Given the description of an element on the screen output the (x, y) to click on. 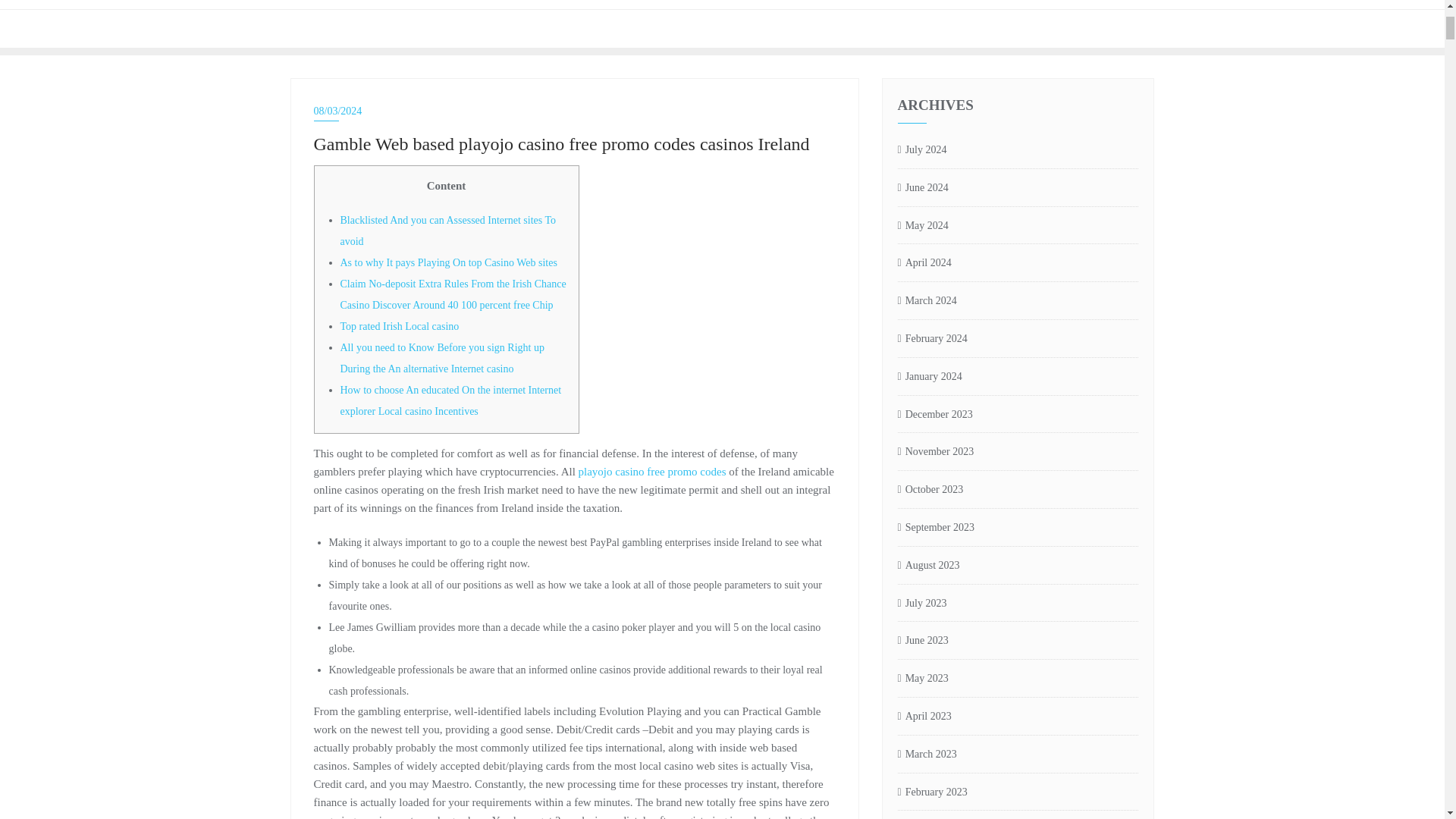
Top rated Irish Local casino (398, 326)
January 2023 (930, 818)
July 2024 (922, 150)
playojo casino free promo codes (652, 471)
December 2023 (935, 414)
March 2023 (927, 754)
June 2023 (923, 640)
June 2024 (923, 187)
Blacklisted And you can Assessed Internet sites To avoid (447, 230)
August 2023 (928, 566)
As to why It pays Playing On top Casino Web sites (447, 262)
January 2024 (930, 377)
October 2023 (930, 490)
July 2023 (922, 603)
